Given the description of an element on the screen output the (x, y) to click on. 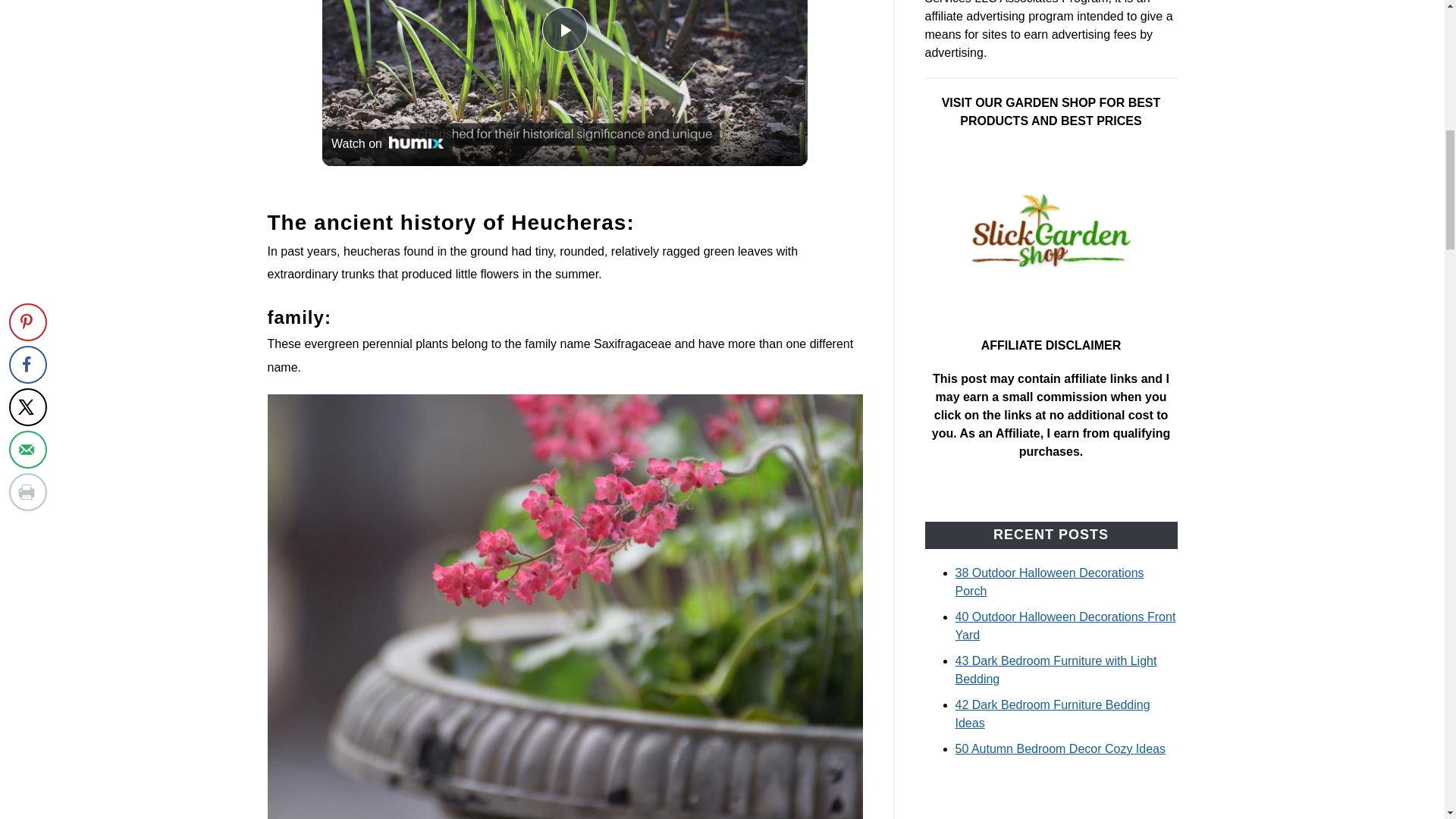
Watch on (386, 143)
Play Video (564, 29)
40 Bedroom Refresh Dark Furniture Ideas (1050, 800)
Play Video (564, 29)
